Given the description of an element on the screen output the (x, y) to click on. 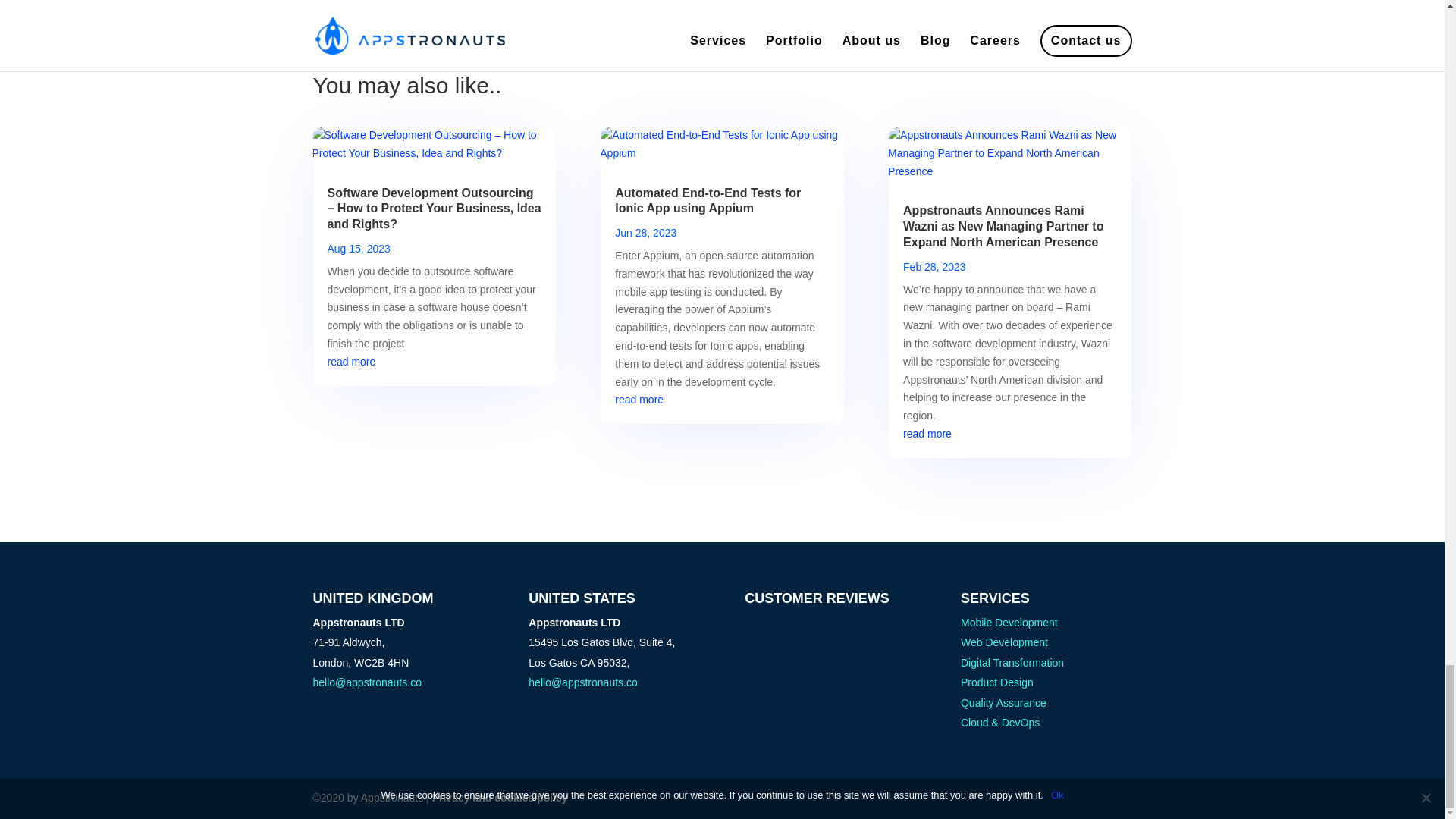
Automated End-to-End Tests for Ionic App using Appium (707, 200)
read more (351, 361)
read more (638, 399)
